Given the description of an element on the screen output the (x, y) to click on. 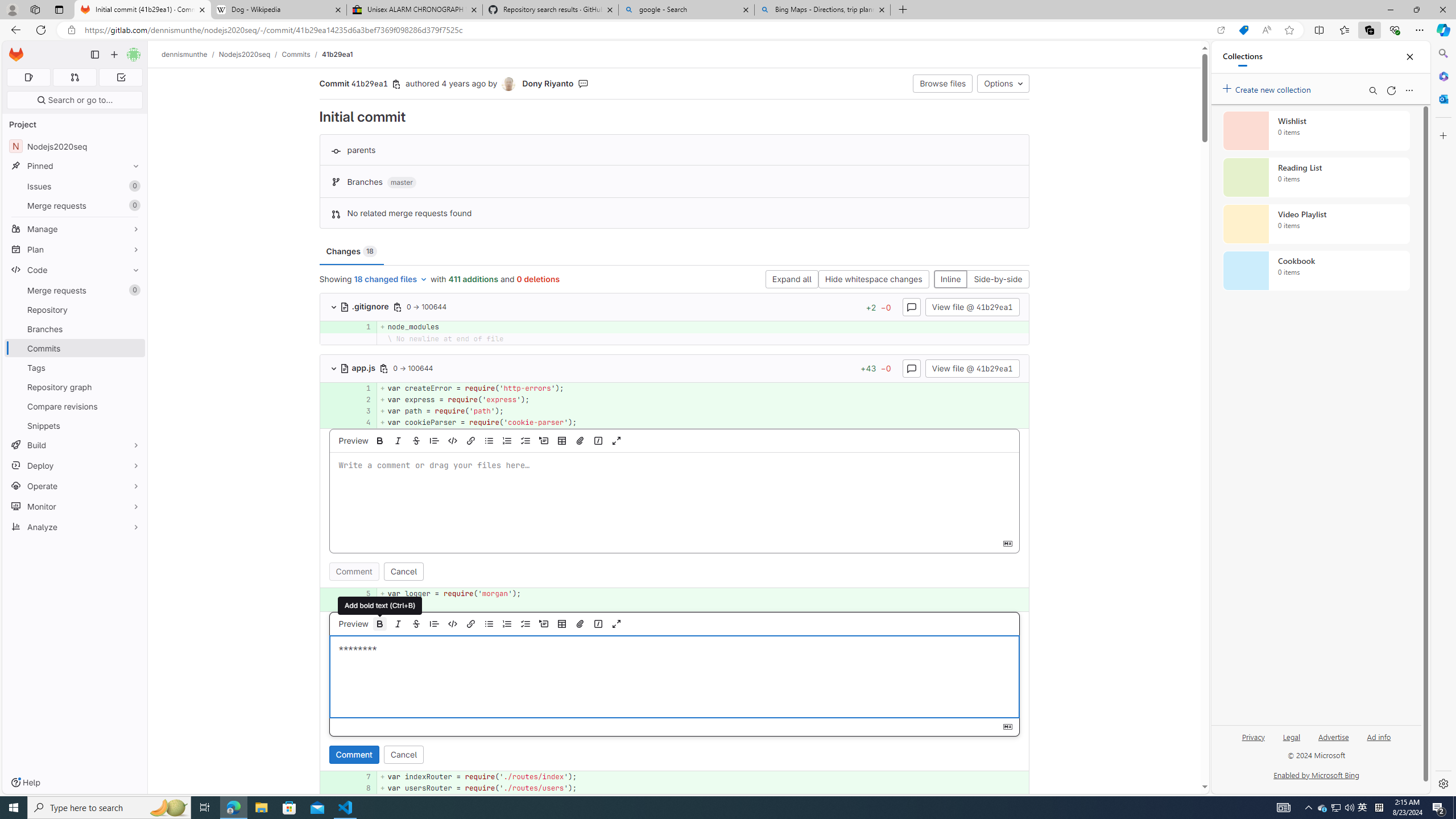
+  (703, 605)
Workspaces (34, 9)
Add a quick action (598, 623)
To-Do list 0 (120, 76)
Class: s16 chevron-down (333, 368)
Nodejs2020seq/ (250, 53)
Pin Compare revisions (132, 406)
6 (362, 605)
Branches (74, 328)
View file @ 41b29ea1 (971, 367)
master (401, 182)
Merge requests0 (74, 289)
AutomationID: 4a68969ef8e858229267b842dedf42ab5dde4d50_0_4 (674, 422)
